Given the description of an element on the screen output the (x, y) to click on. 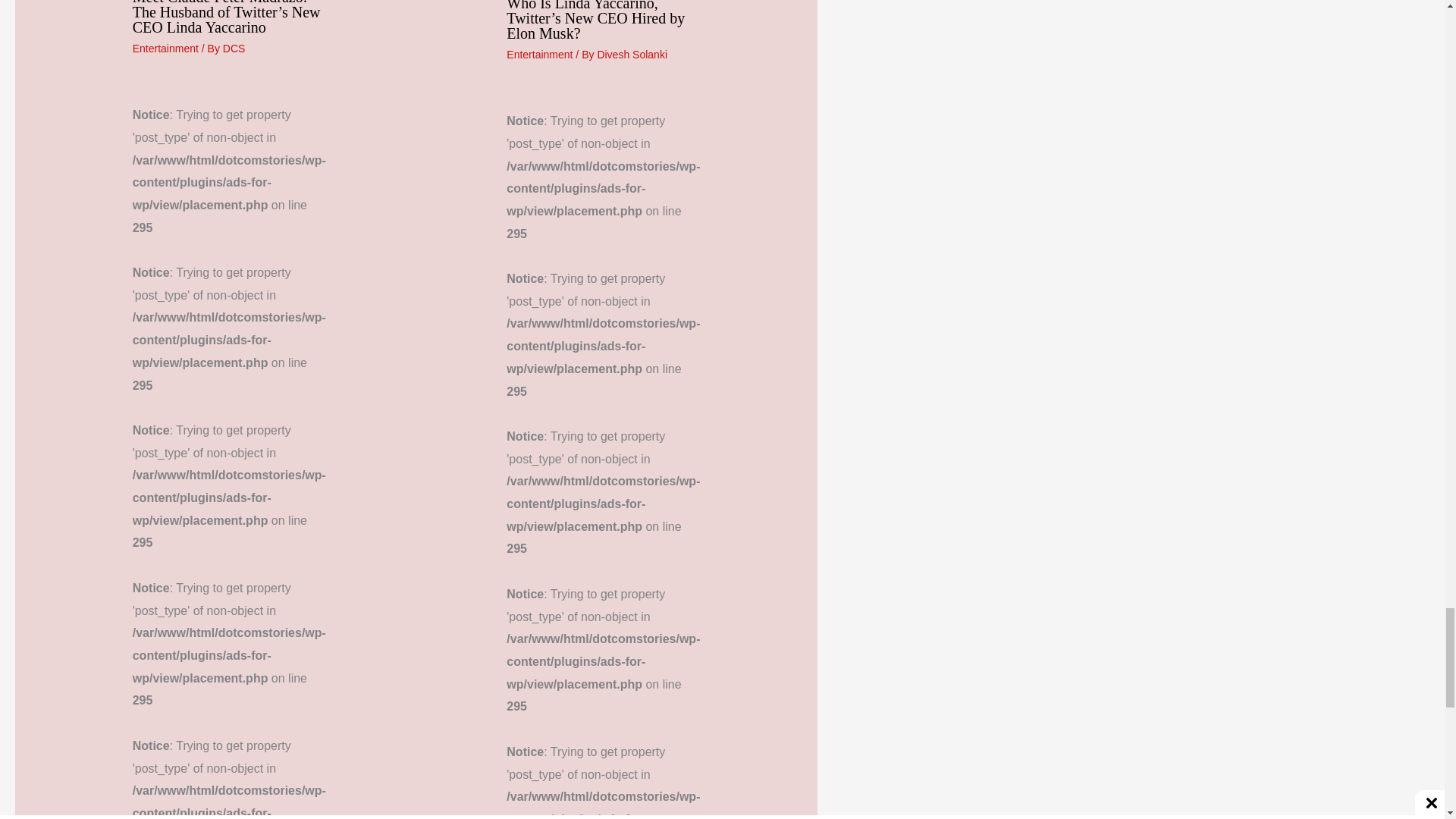
View all posts by Divesh Solanki (631, 54)
Entertainment (165, 48)
View all posts by DCS (234, 48)
